Given the description of an element on the screen output the (x, y) to click on. 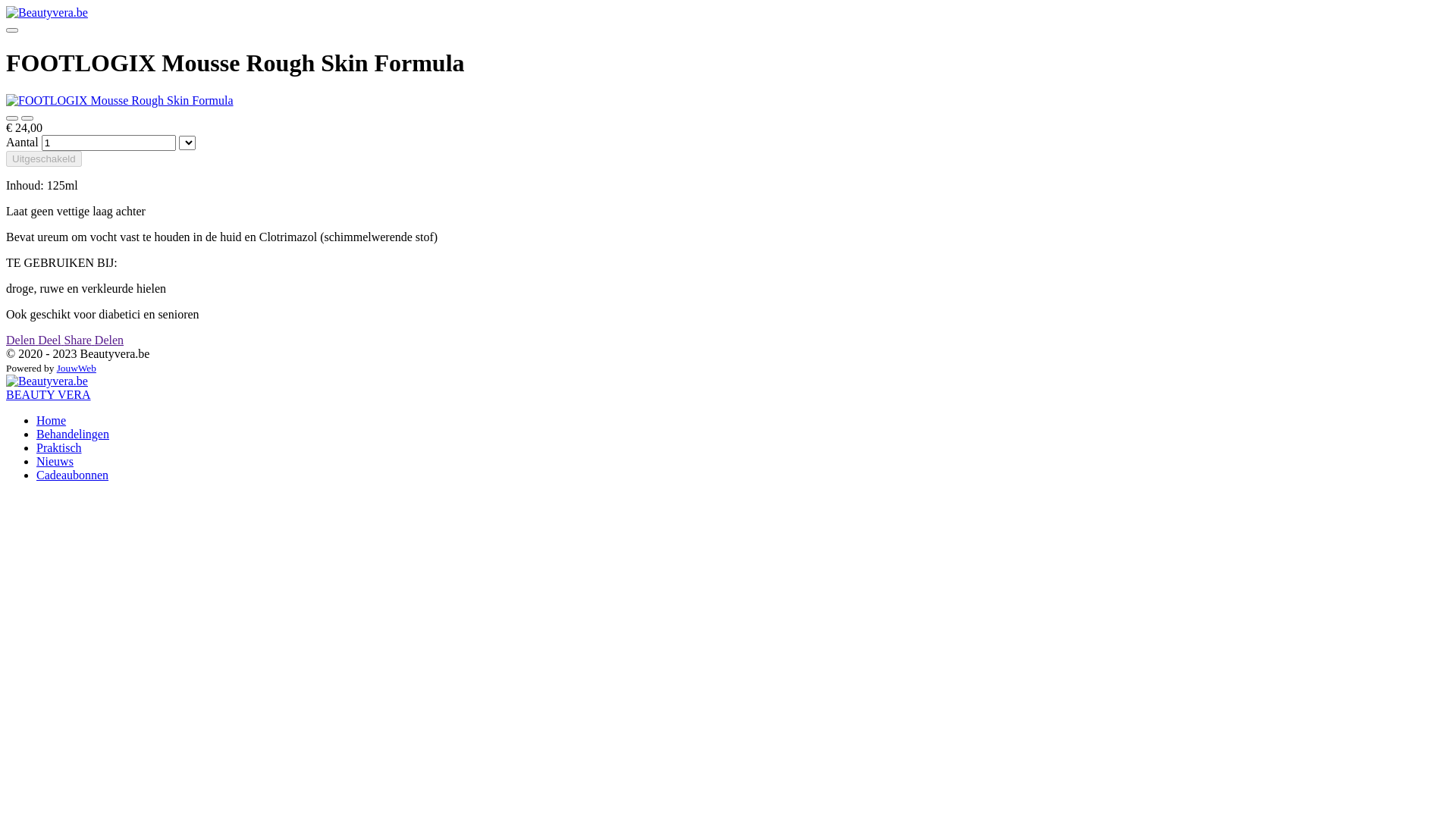
JouwWeb Element type: text (76, 367)
Nieuws Element type: text (54, 461)
Delen Element type: text (21, 339)
Uitgeschakeld Element type: text (43, 158)
Deel Element type: text (50, 339)
Home Element type: text (50, 420)
Behandelingen Element type: text (72, 433)
Beautyvera.be Element type: hover (46, 381)
Beautyvera.be Element type: hover (46, 12)
Cadeaubonnen Element type: text (72, 474)
Share Element type: text (78, 339)
Delen Element type: text (108, 339)
Praktisch Element type: text (58, 447)
BEAUTY VERA Element type: text (48, 394)
